Given the description of an element on the screen output the (x, y) to click on. 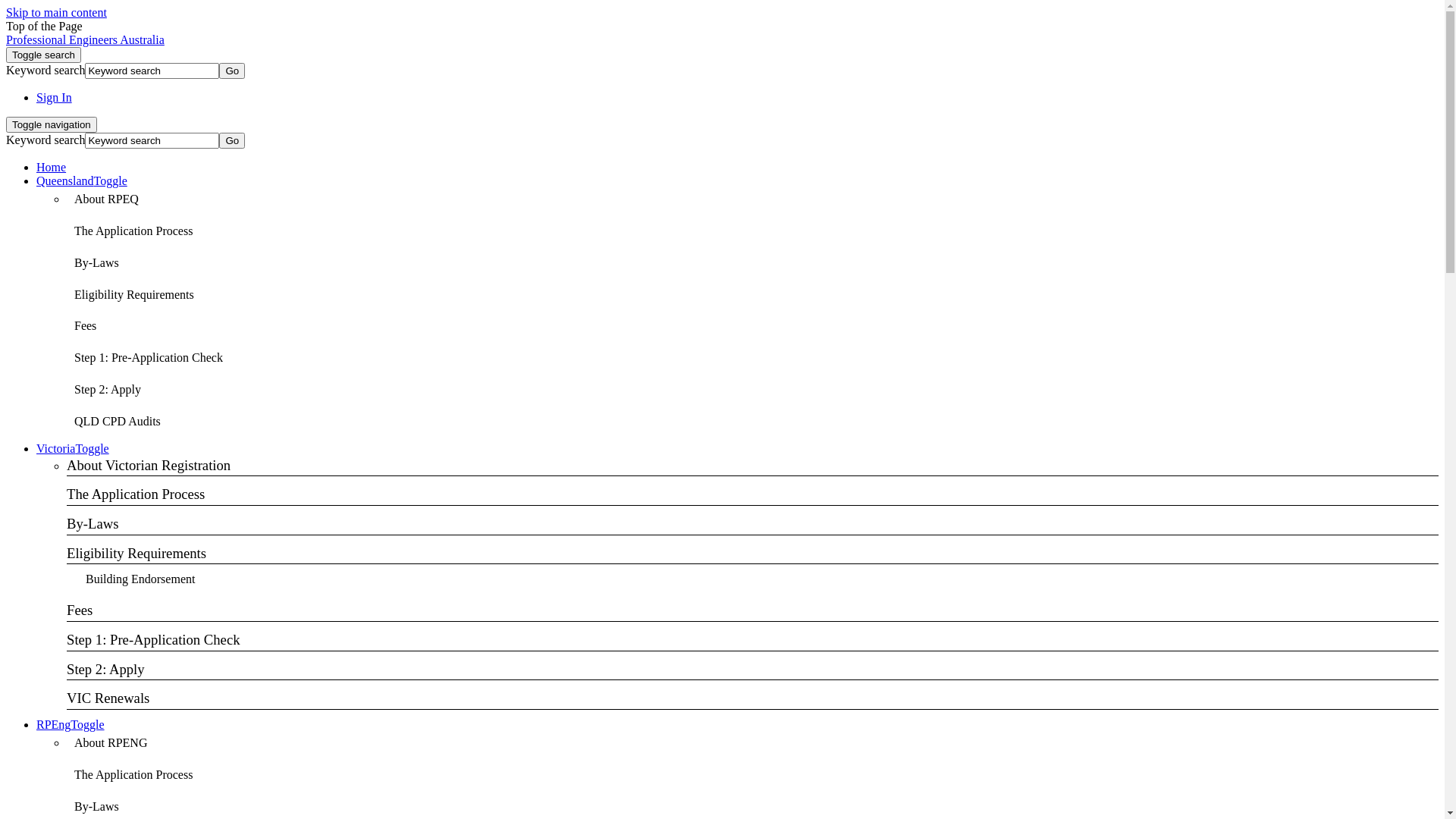
Step 1: Pre-Application Check Element type: text (148, 358)
VictoriaToggle Element type: text (72, 448)
About RPEQ Element type: text (106, 199)
Building Endorsement Element type: text (140, 579)
QueenslandToggle Element type: text (81, 180)
The Application Process Element type: text (133, 231)
The Application Process Element type: text (752, 494)
Toggle navigation Element type: text (51, 124)
Step 2: Apply Element type: text (107, 389)
VIC Renewals Element type: text (752, 698)
Fees Element type: text (752, 610)
Fees Element type: text (84, 326)
By-Laws Element type: text (96, 263)
Step 1: Pre-Application Check Element type: text (752, 640)
Go Element type: text (231, 140)
By-Laws Element type: text (752, 524)
RPEngToggle Element type: text (70, 724)
QLD CPD Audits Element type: text (117, 421)
Professional Engineers Australia Element type: text (85, 39)
Eligibility Requirements Element type: text (133, 295)
Go Element type: text (231, 70)
About RPENG Element type: text (110, 743)
Home Element type: text (50, 166)
The Application Process Element type: text (133, 775)
Step 2: Apply Element type: text (752, 669)
Toggle search Element type: text (43, 54)
Eligibility Requirements Element type: text (752, 553)
About Victorian Registration Element type: text (752, 465)
Sign In Element type: text (54, 97)
Top of the Page Element type: text (44, 25)
Skip to main content Element type: text (56, 12)
